Given the description of an element on the screen output the (x, y) to click on. 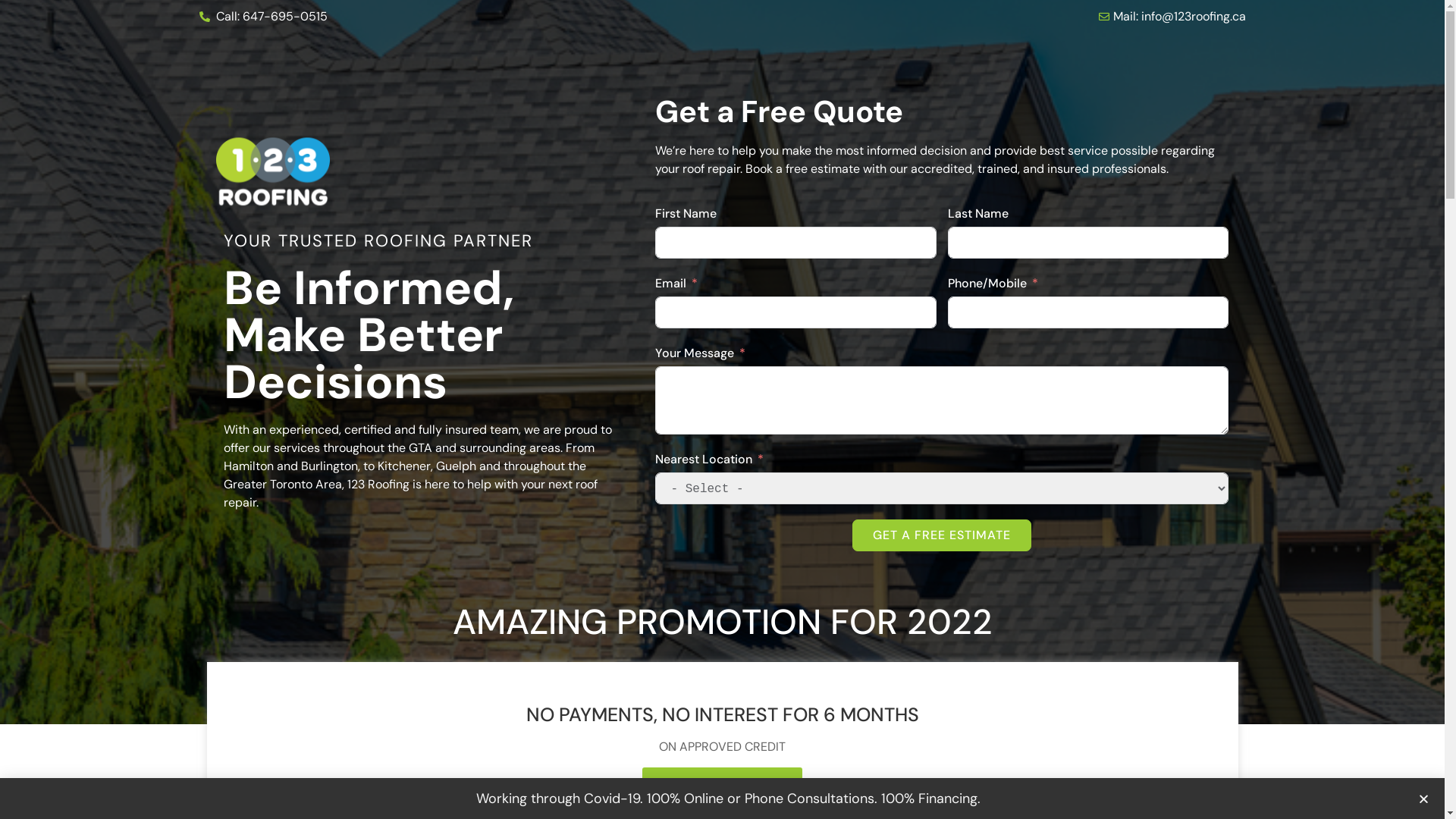
GET IN TOUCH Element type: text (722, 788)
GET A FREE ESTIMATE Element type: text (941, 535)
Call: 647-695-0515 Element type: text (456, 16)
Mail: info@123roofing.ca Element type: text (987, 16)
